Given the description of an element on the screen output the (x, y) to click on. 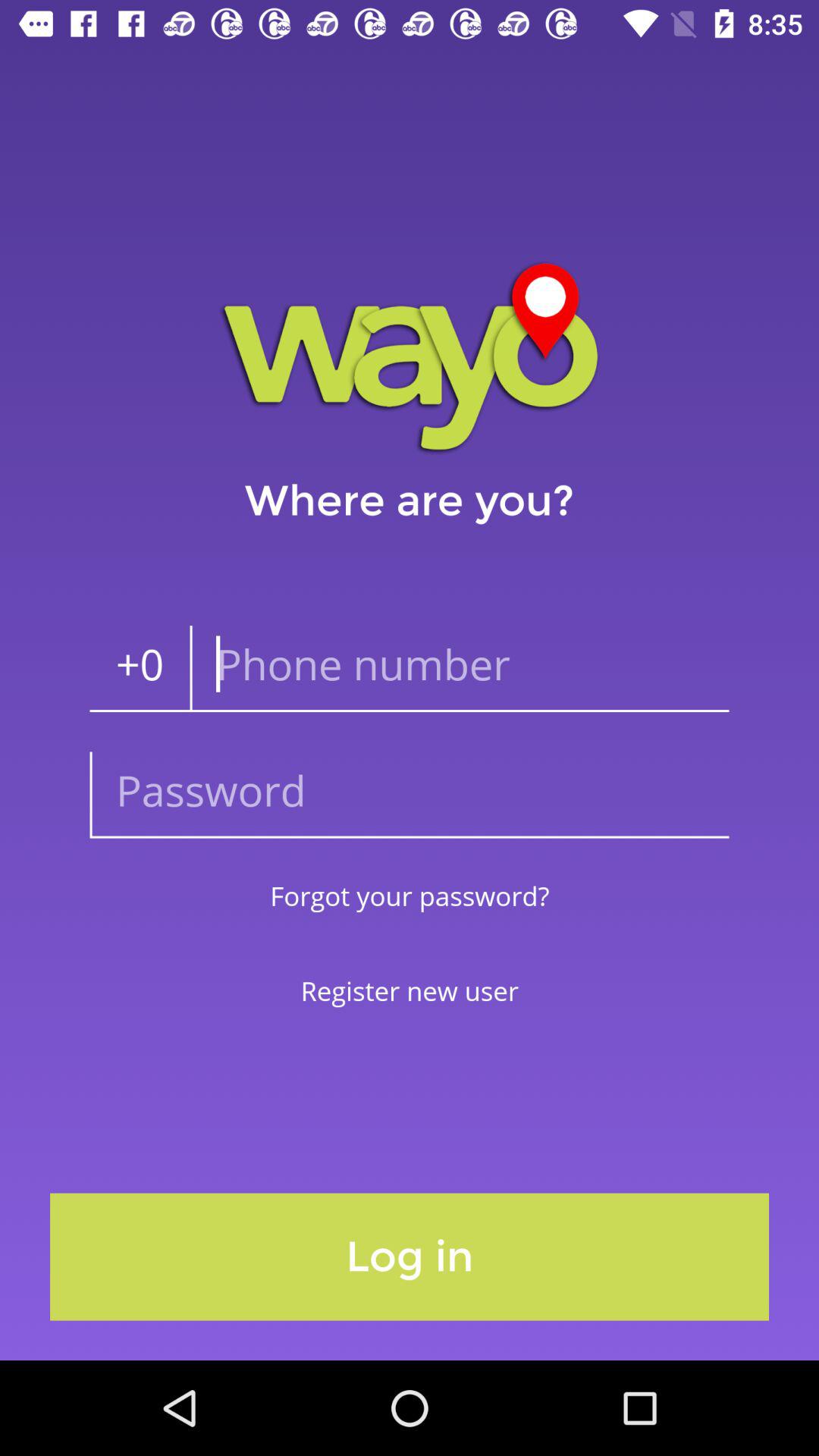
open +0 item (139, 668)
